Given the description of an element on the screen output the (x, y) to click on. 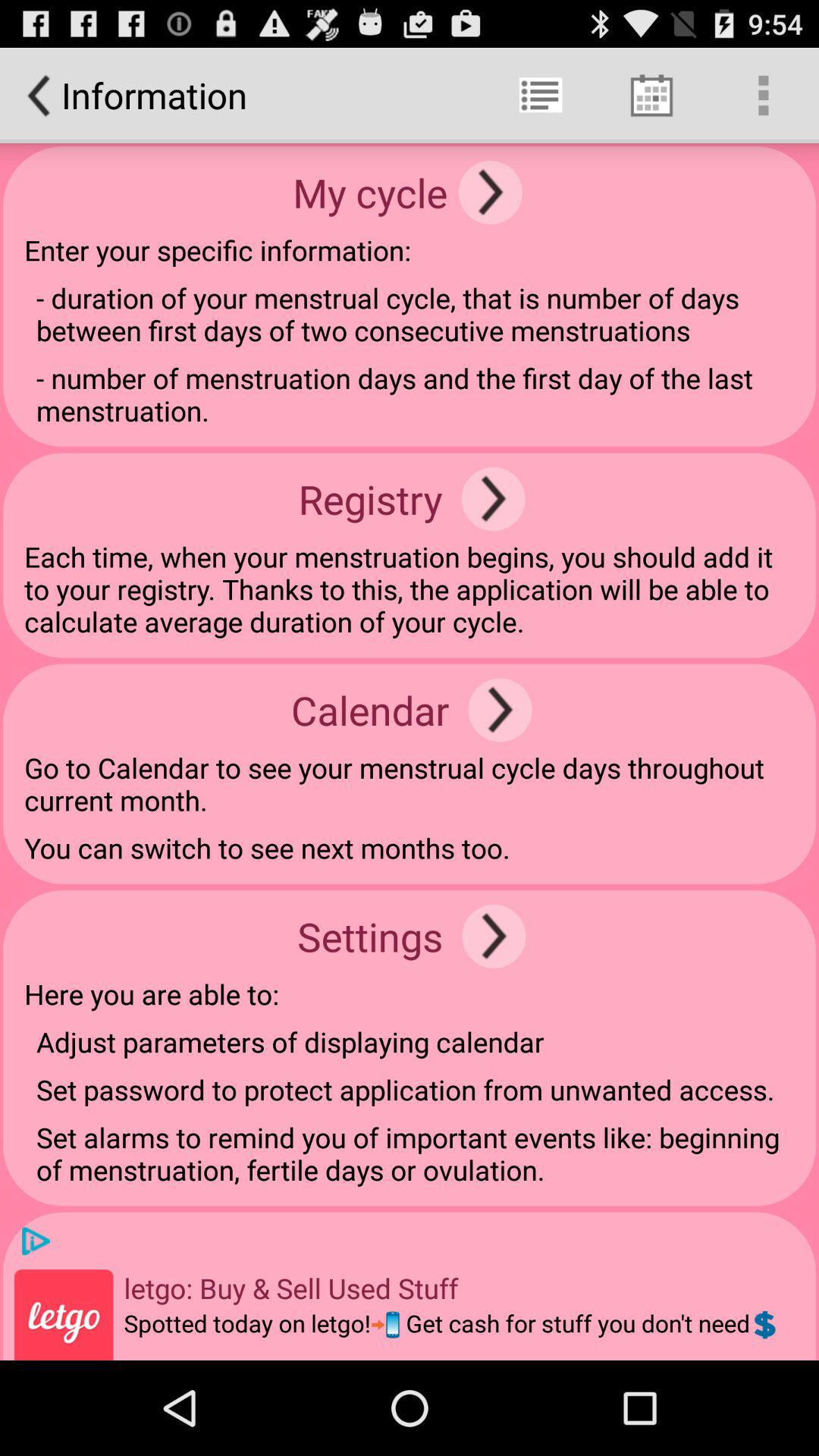
click icon next to the my cycle (490, 192)
